Given the description of an element on the screen output the (x, y) to click on. 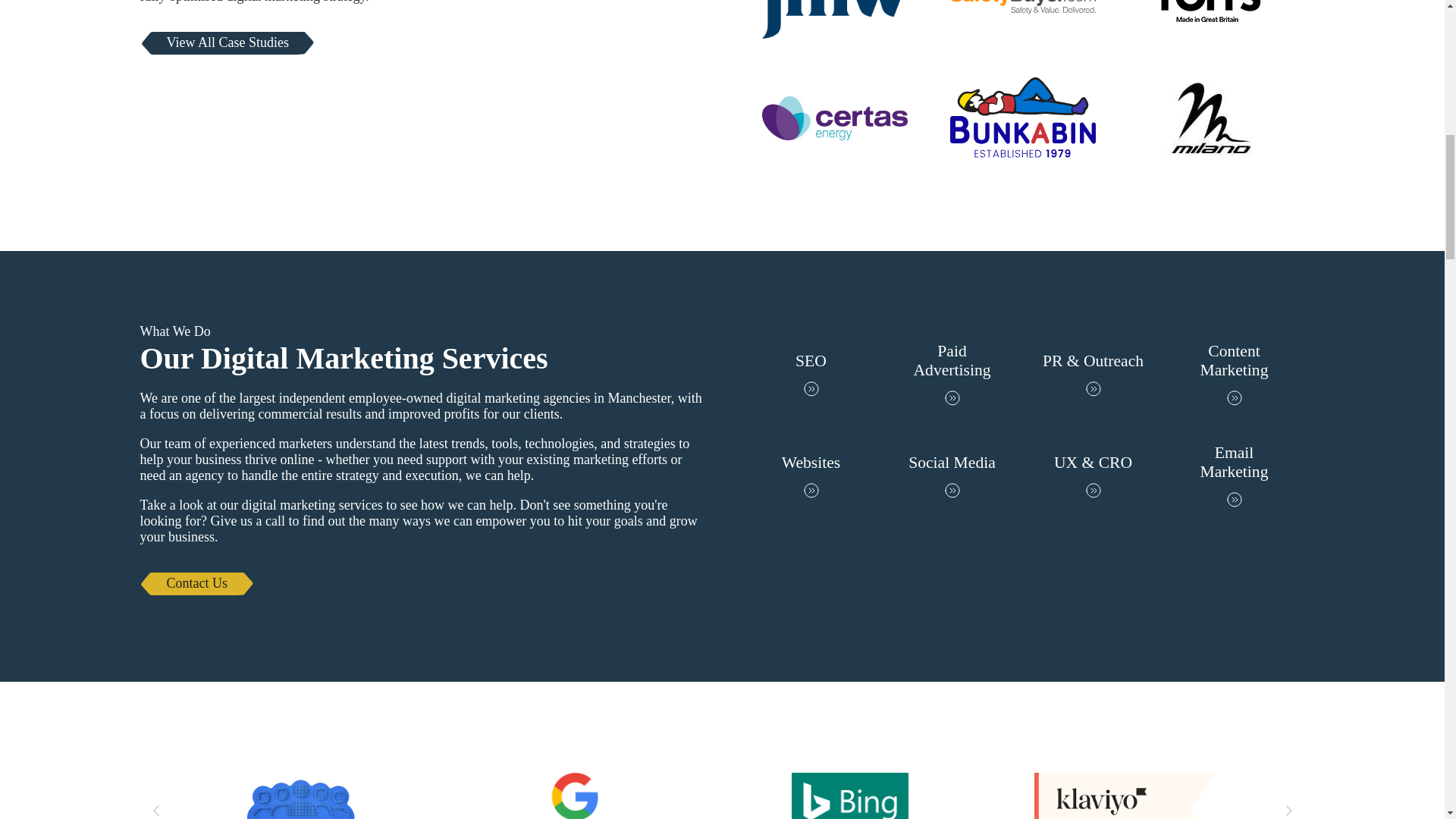
Social Media (951, 476)
Contact Us (196, 583)
SEO (809, 374)
Paid Advertising (951, 374)
Websites (809, 476)
View All Case Studies (226, 42)
Content Marketing (1233, 374)
Email Marketing (1233, 476)
